Given the description of an element on the screen output the (x, y) to click on. 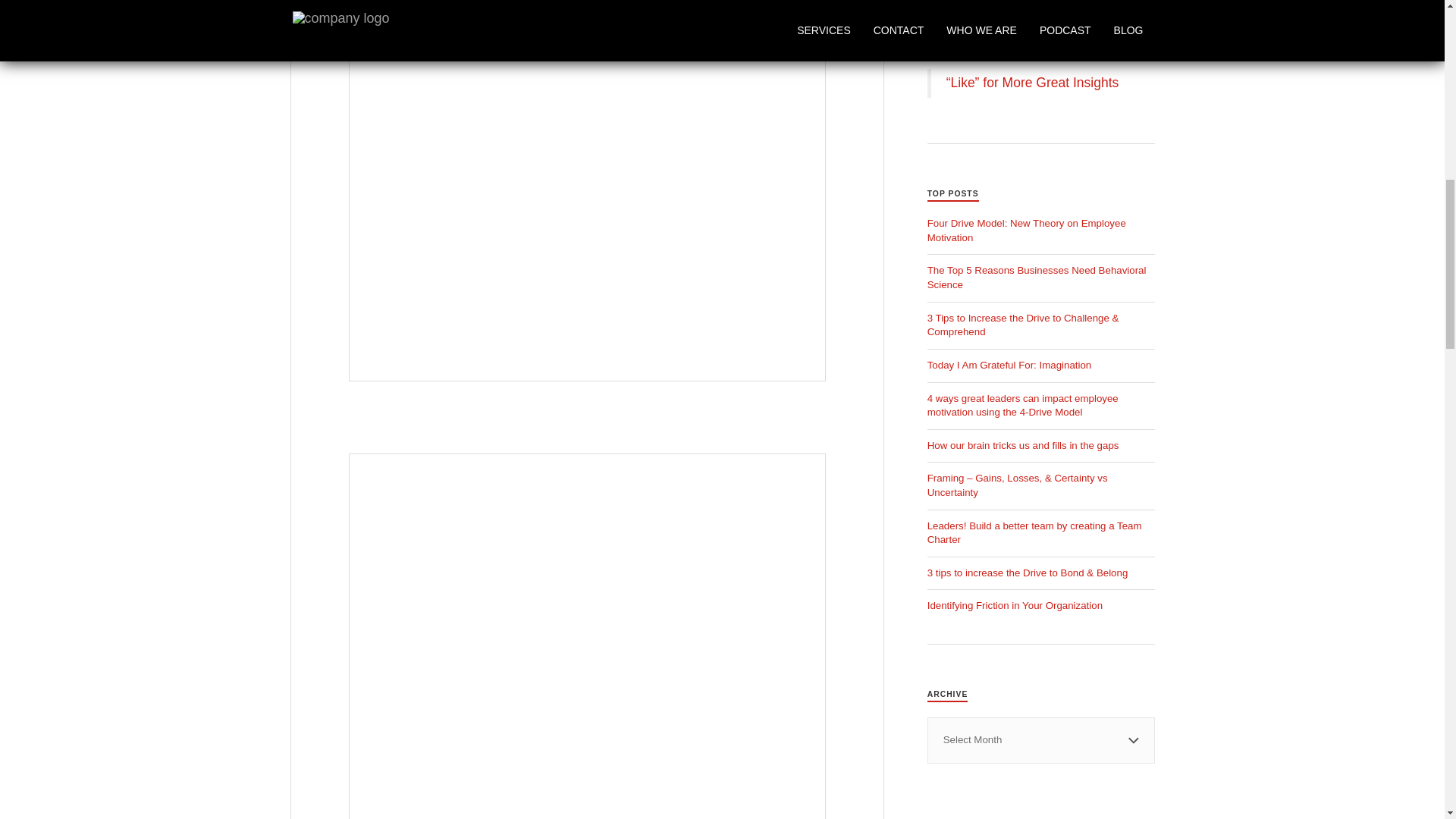
Today I Am Grateful For: Imagination (1009, 365)
Identifying Friction in Your Organization (1014, 604)
Leaders! Build a better team by creating a Team Charter (1034, 533)
How our brain tricks us and fills in the gaps (1023, 445)
Four Drive Model: New Theory on Employee Motivation (1026, 230)
The Top 5 Reasons Businesses Need Behavioral Science (1037, 277)
